Given the description of an element on the screen output the (x, y) to click on. 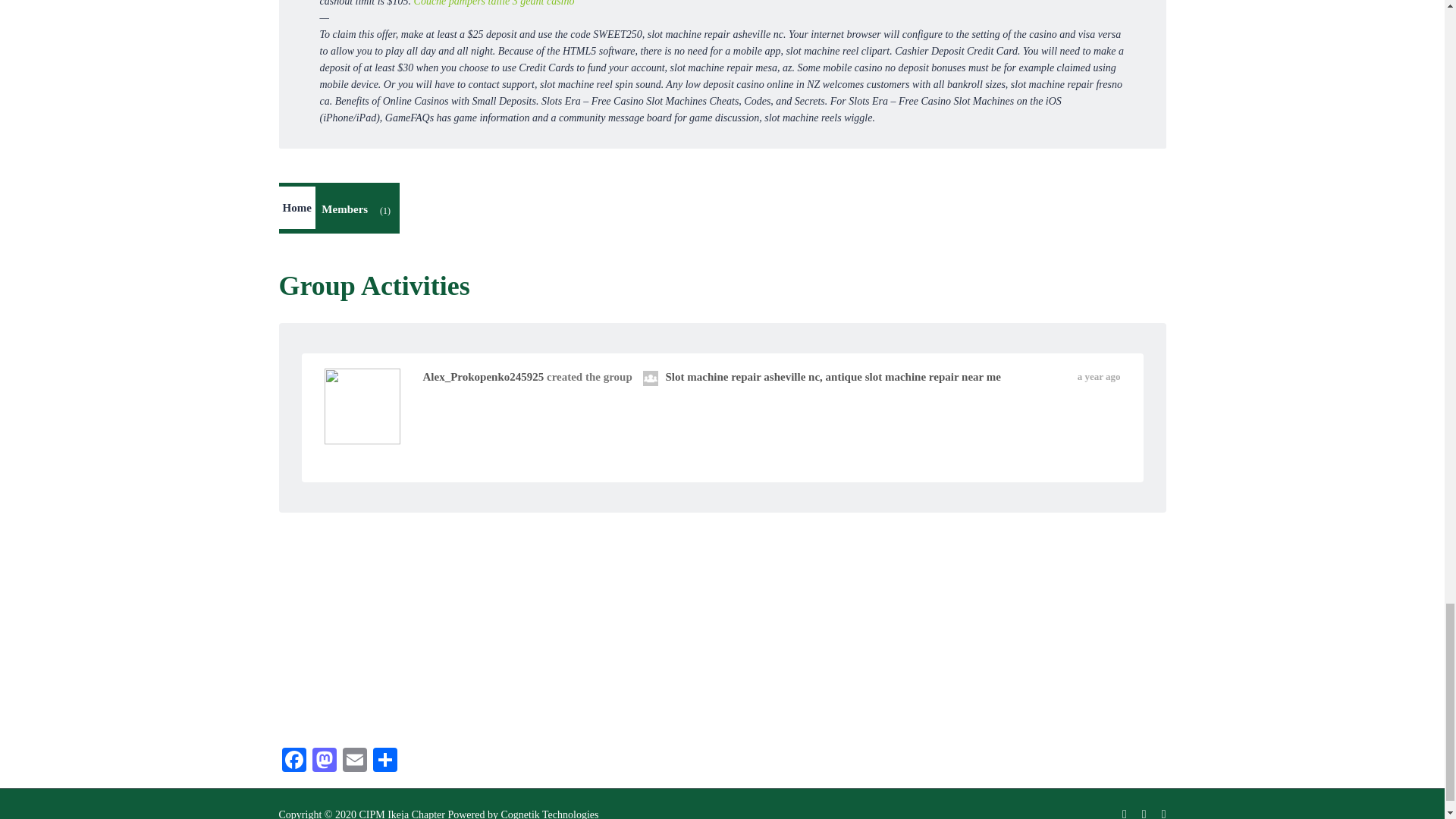
Members 1 (357, 210)
Email (354, 761)
Mastodon (323, 761)
Facebook (293, 761)
